Given the description of an element on the screen output the (x, y) to click on. 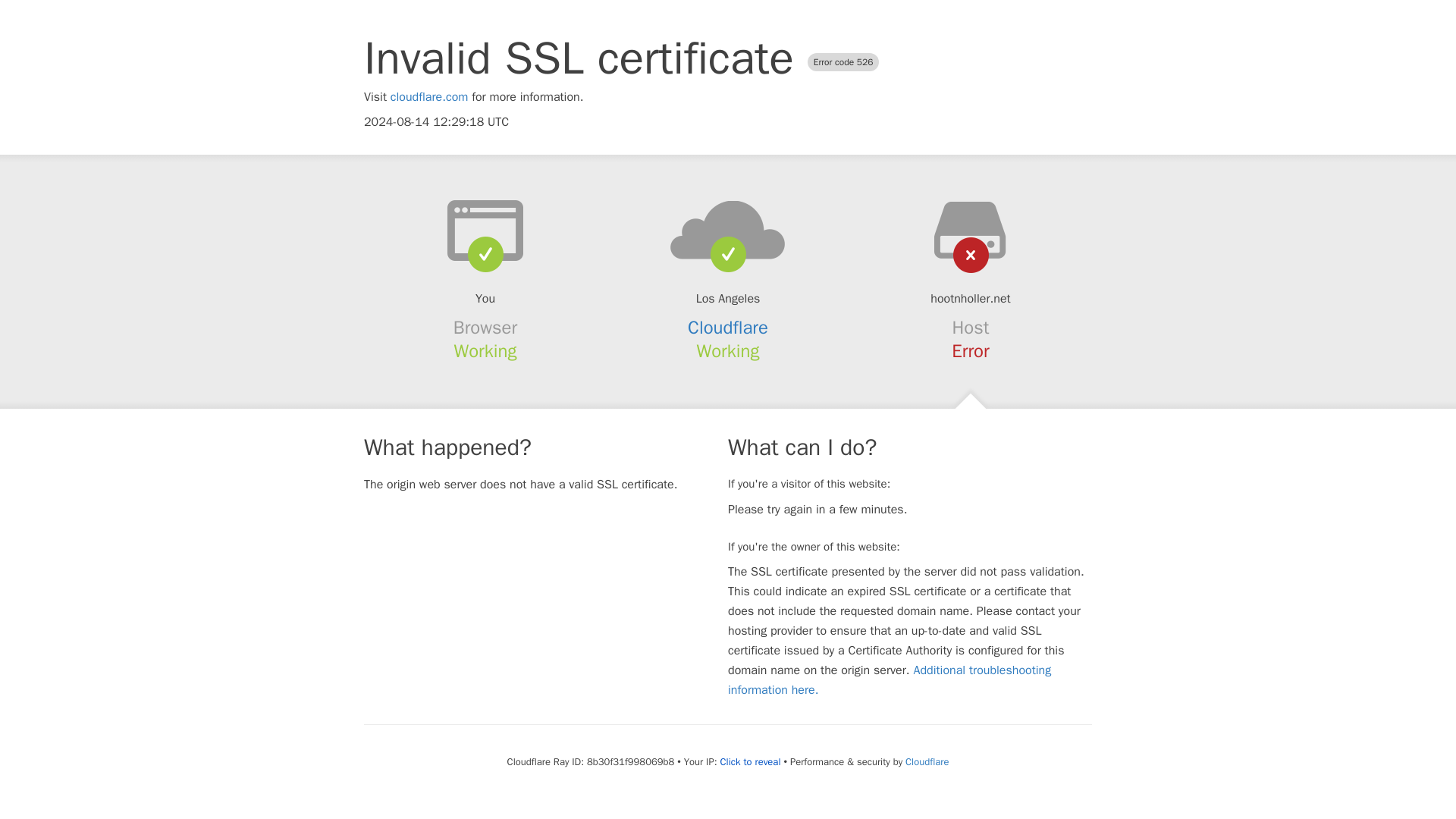
cloudflare.com (429, 96)
Cloudflare (727, 327)
Additional troubleshooting information here. (889, 679)
Click to reveal (750, 762)
Cloudflare (927, 761)
